Given the description of an element on the screen output the (x, y) to click on. 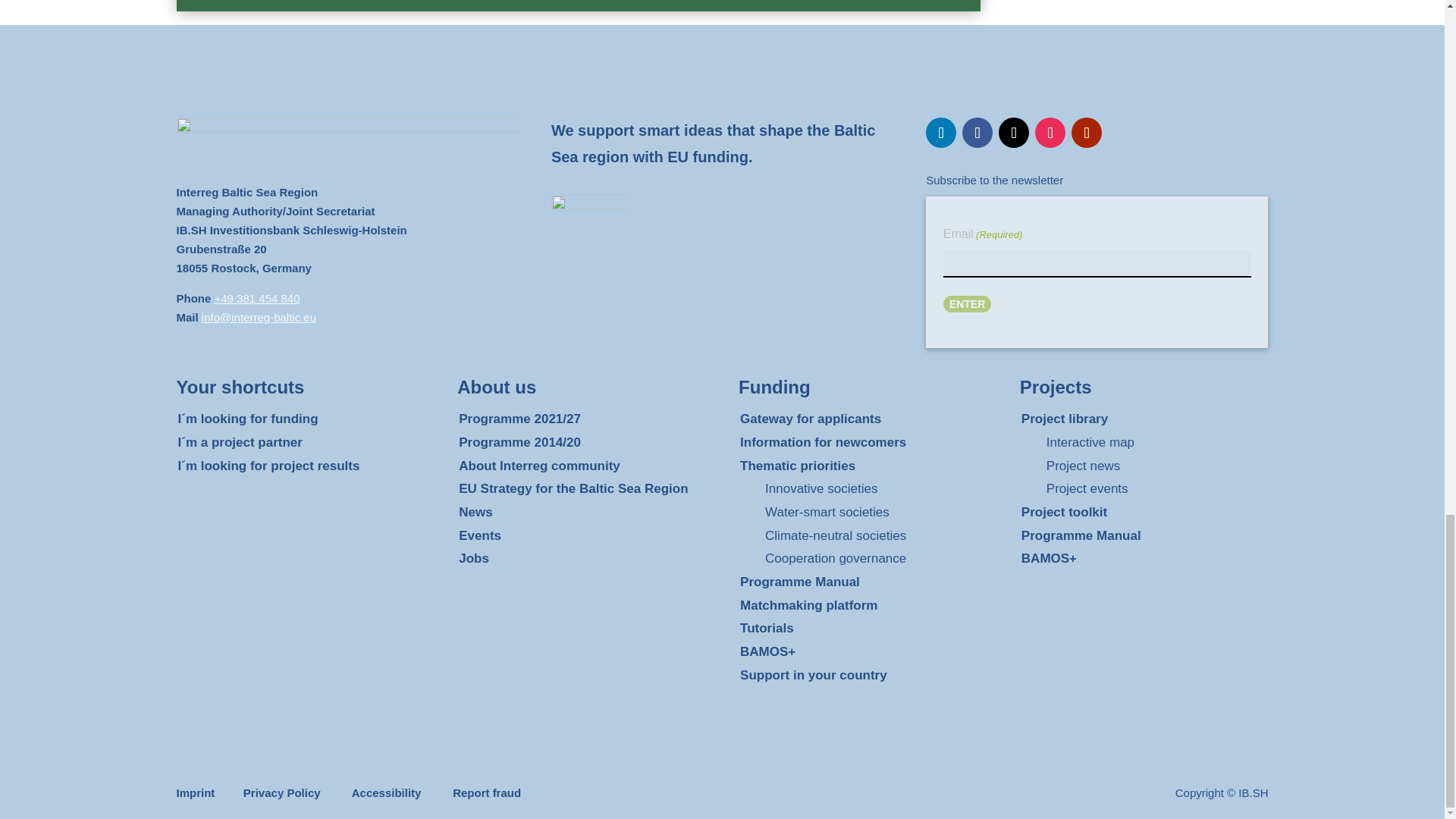
logo (589, 212)
Follow on X (1013, 132)
Follow on LinkedIn (941, 132)
Enter (967, 303)
Follow on Youtube (1086, 132)
Follow on Instagram (1050, 132)
Follow on Facebook (977, 132)
